Given the description of an element on the screen output the (x, y) to click on. 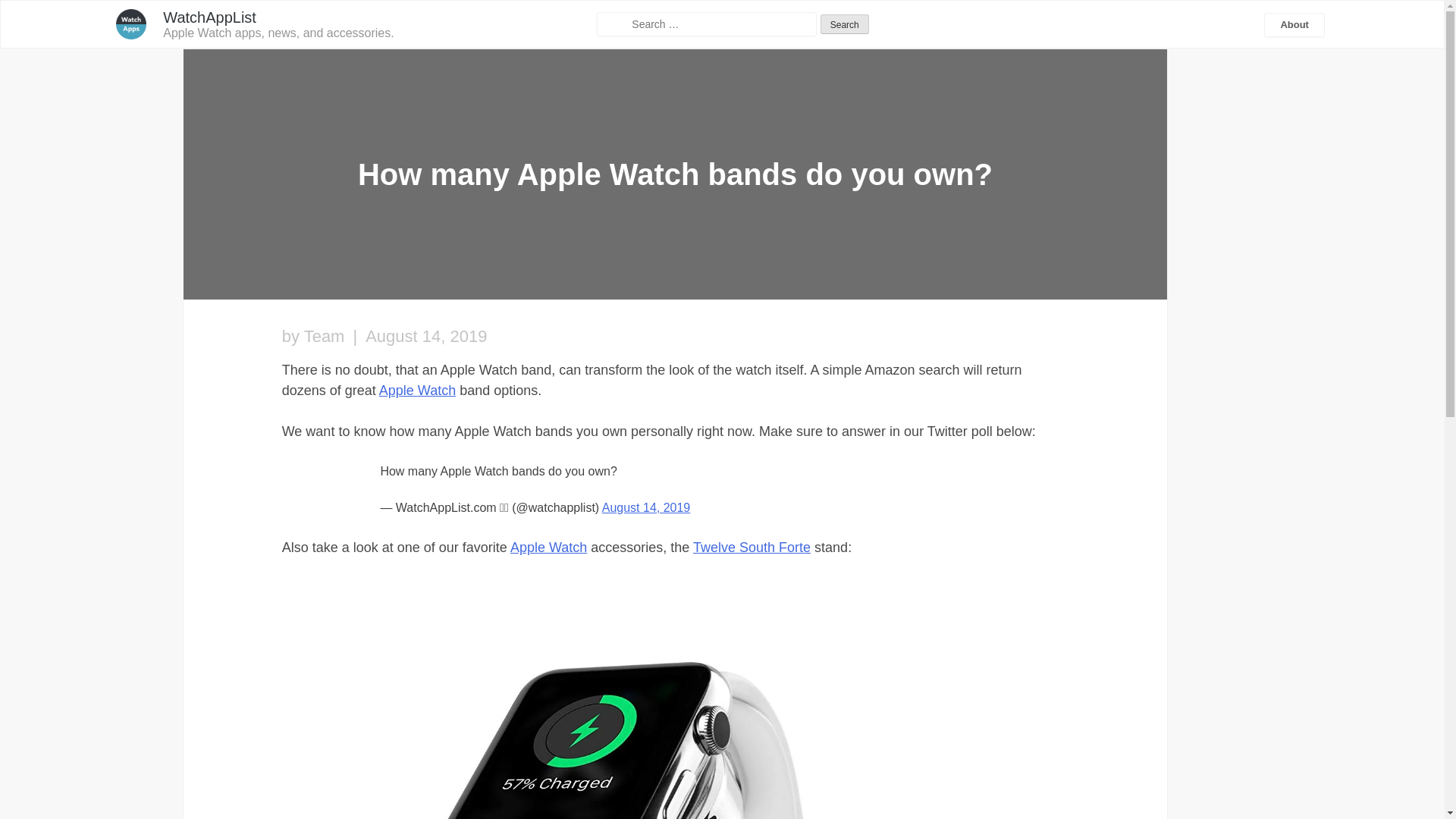
Twelve South Forte (751, 547)
About (1293, 24)
Search (845, 24)
Apple Watch (548, 547)
Search (845, 24)
Search (845, 24)
Apple Watch (416, 390)
WatchAppList (209, 17)
August 14, 2019 (646, 507)
